Given the description of an element on the screen output the (x, y) to click on. 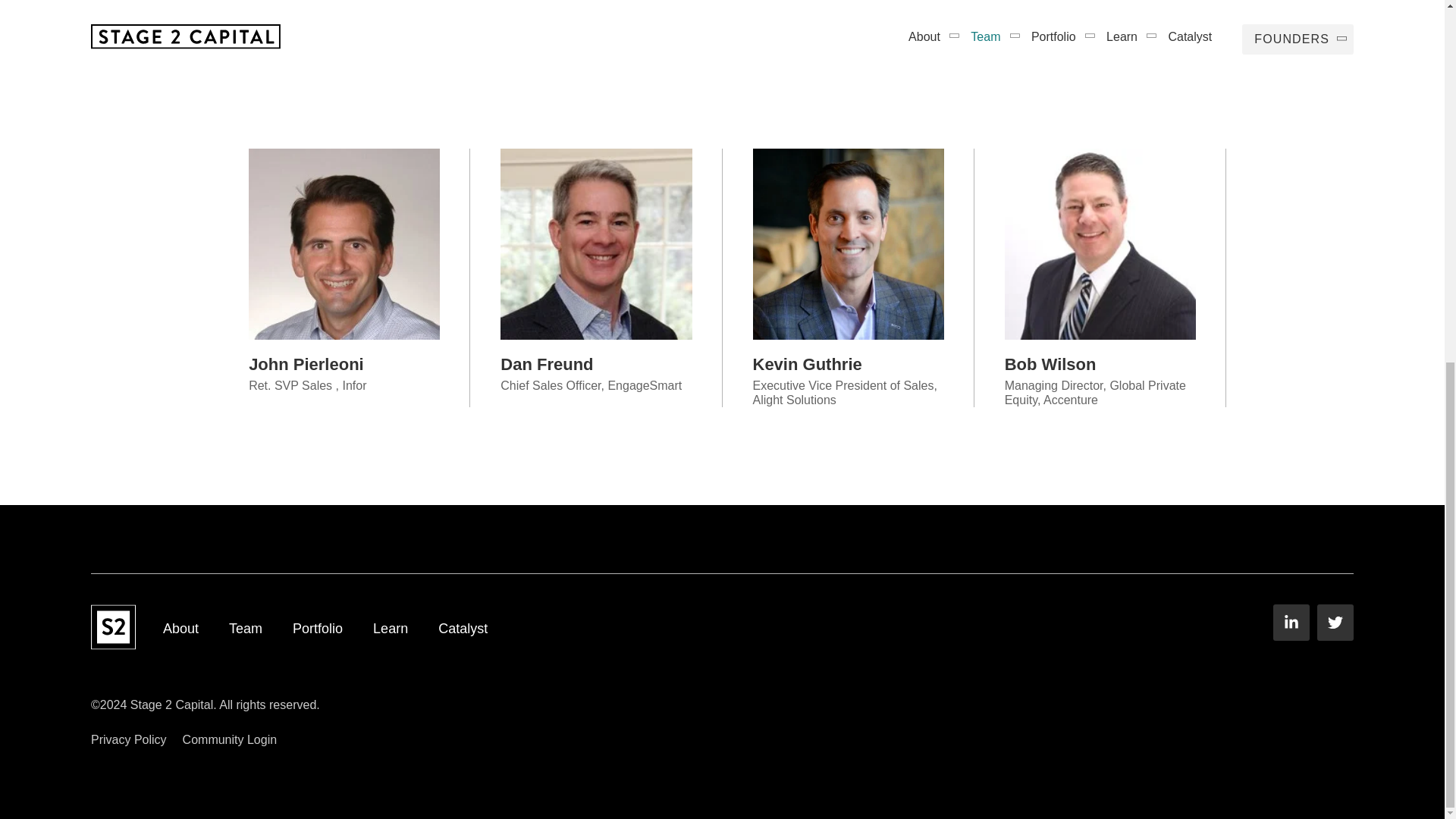
Portfolio (317, 628)
Learn (389, 628)
Team (245, 628)
Catalyst (462, 628)
Community Login (230, 739)
Privacy Policy (128, 739)
About (180, 628)
